Given the description of an element on the screen output the (x, y) to click on. 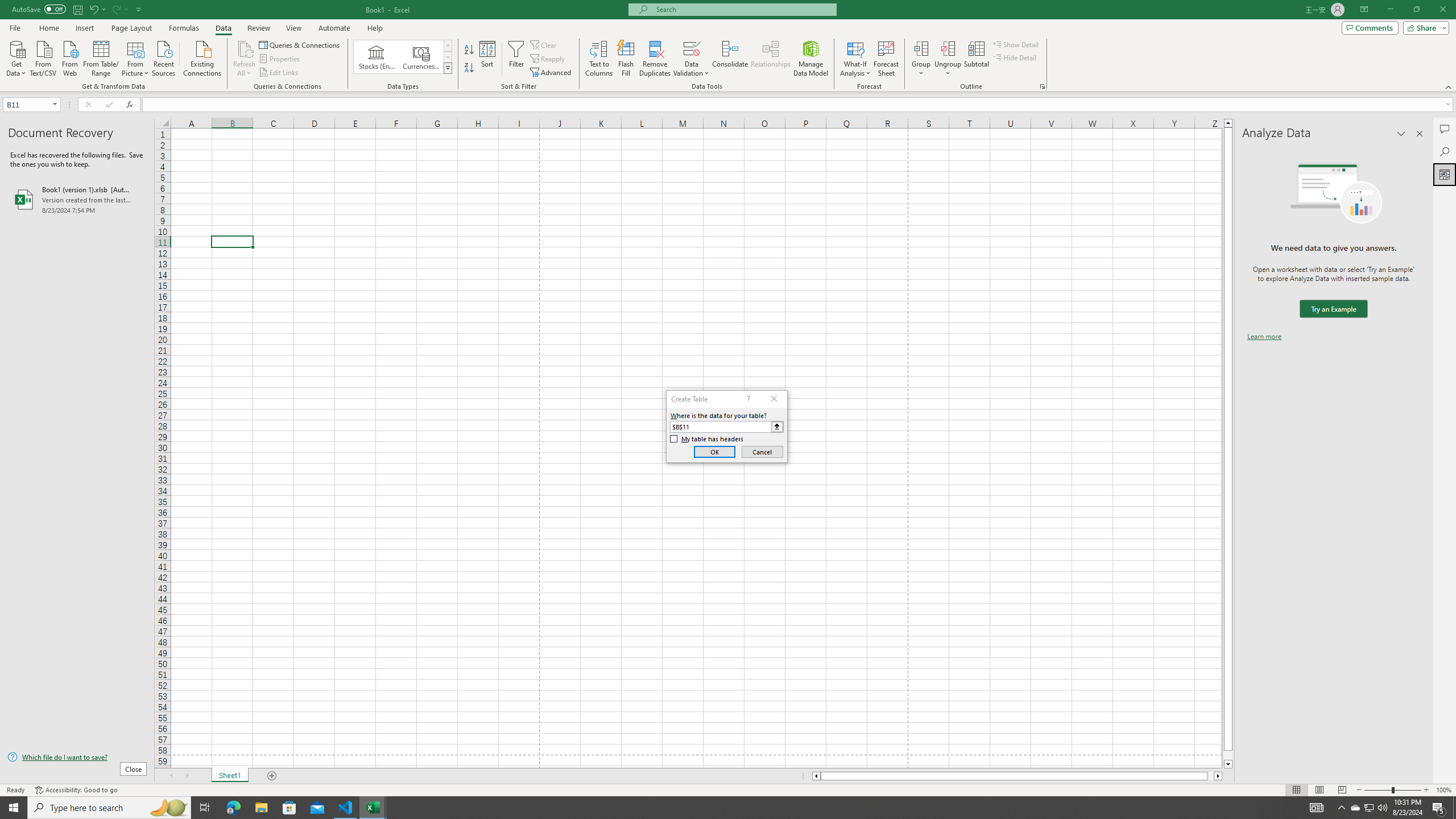
Accessibility Checker Accessibility: Good to go (76, 790)
Filter (515, 58)
From Web (69, 57)
Data Validation... (691, 58)
View (293, 28)
Get Data (16, 57)
Line up (1228, 122)
Customize Quick Access Toolbar (139, 9)
AutoSave (38, 9)
Data Types (448, 67)
Page right (1211, 775)
Restore Down (1416, 9)
From Picture (135, 57)
Review (258, 28)
Existing Connections (202, 57)
